Given the description of an element on the screen output the (x, y) to click on. 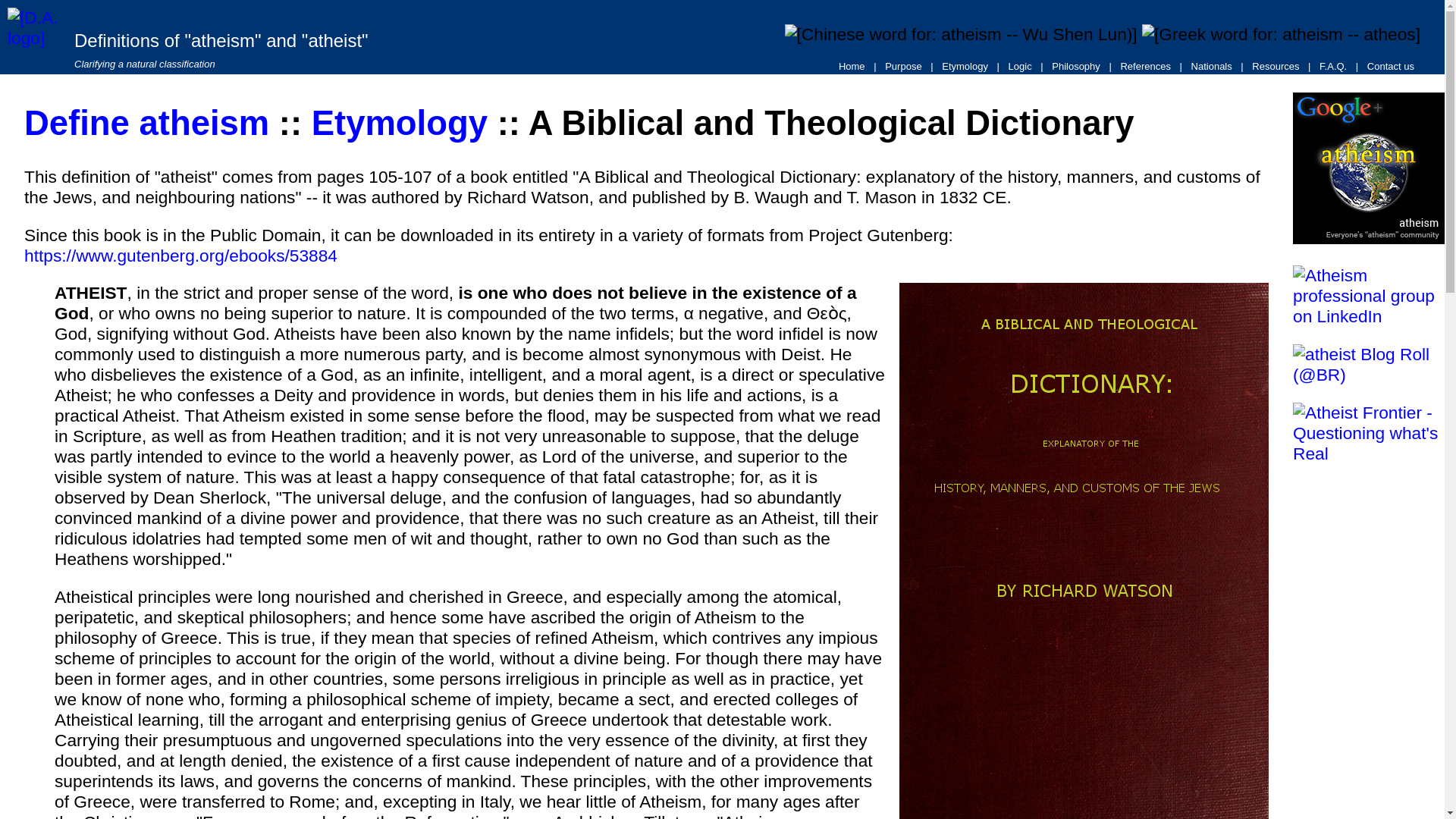
Etymology (399, 123)
Contact us (1391, 65)
F.A.Q. (1332, 65)
Logic (1020, 65)
Home (851, 65)
Define atheism (146, 123)
Resources (1275, 65)
Philosophy (1075, 65)
Nationals (1212, 65)
Purpose (903, 65)
Etymology (965, 65)
References (1144, 65)
